Given the description of an element on the screen output the (x, y) to click on. 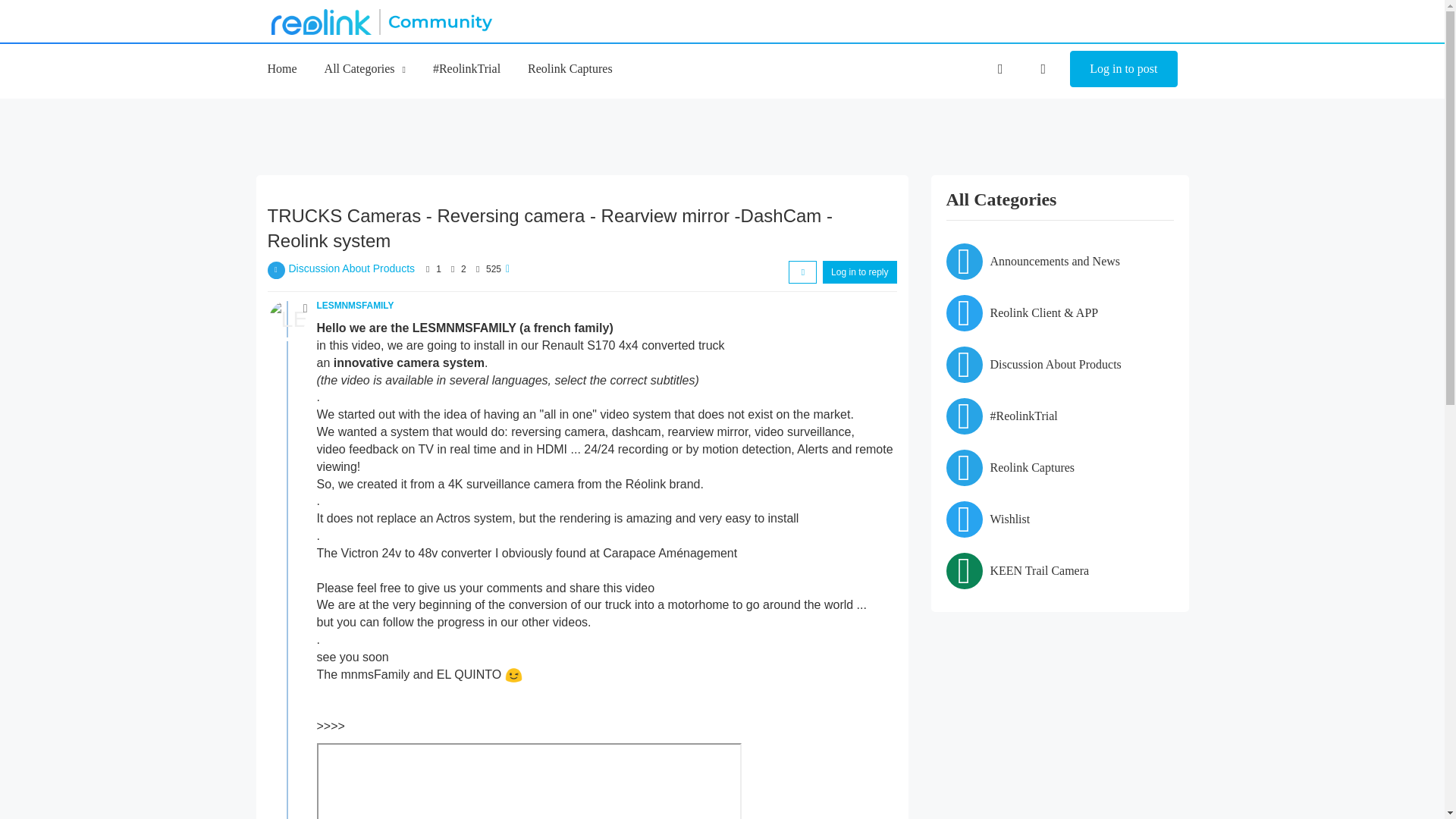
Sort by (802, 272)
All Categories (365, 68)
Posts (452, 268)
LESMNMSFAMILY (355, 305)
Home (281, 68)
Reolink Captures (569, 68)
YouTube video player (529, 780)
Log in to reply (859, 272)
Discussion About Products (351, 268)
525 (493, 268)
